Given the description of an element on the screen output the (x, y) to click on. 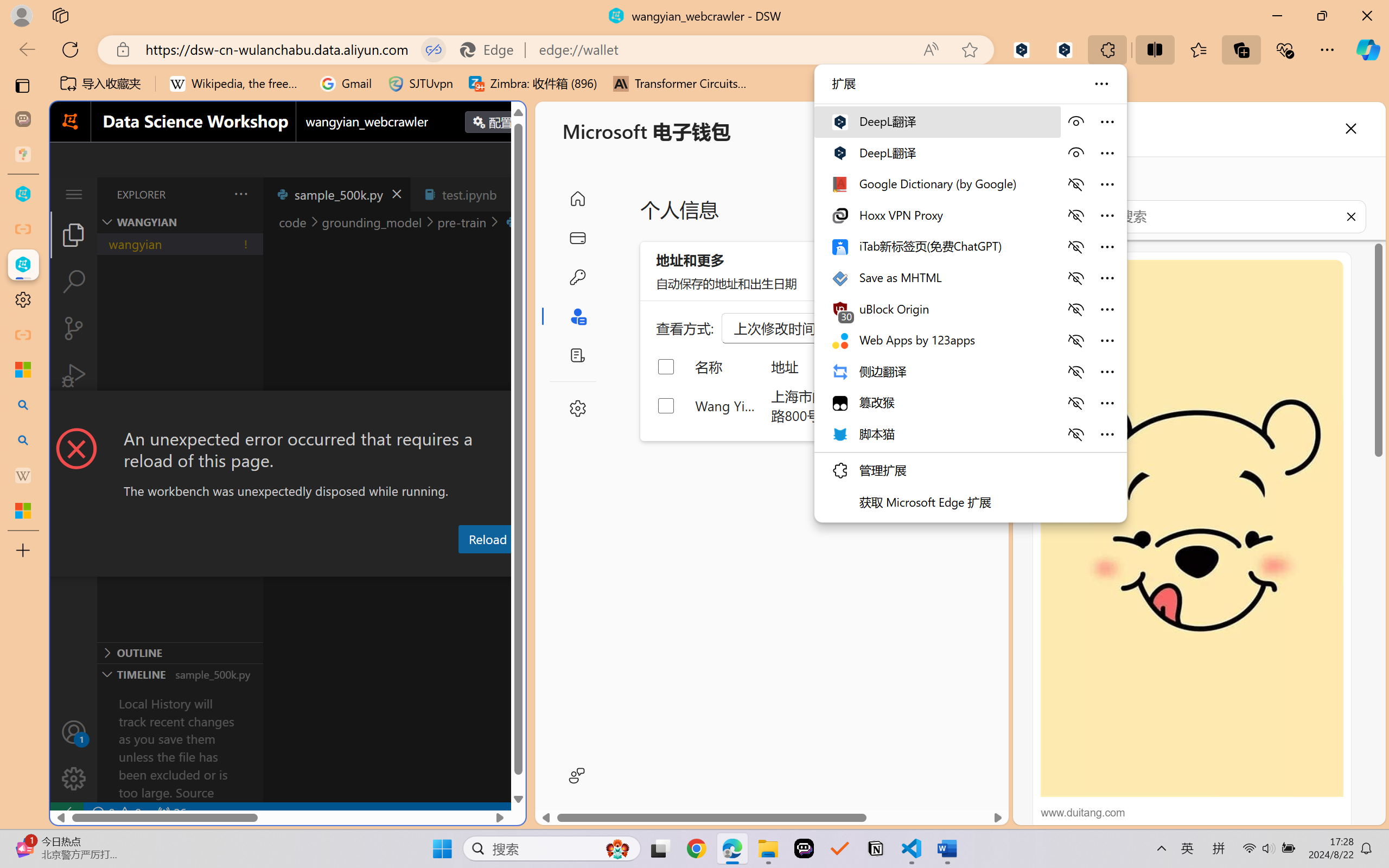
Terminal (Ctrl+`) (553, 565)
Source Control (Ctrl+Shift+G) (73, 328)
uBlock Origin (936, 308)
